Given the description of an element on the screen output the (x, y) to click on. 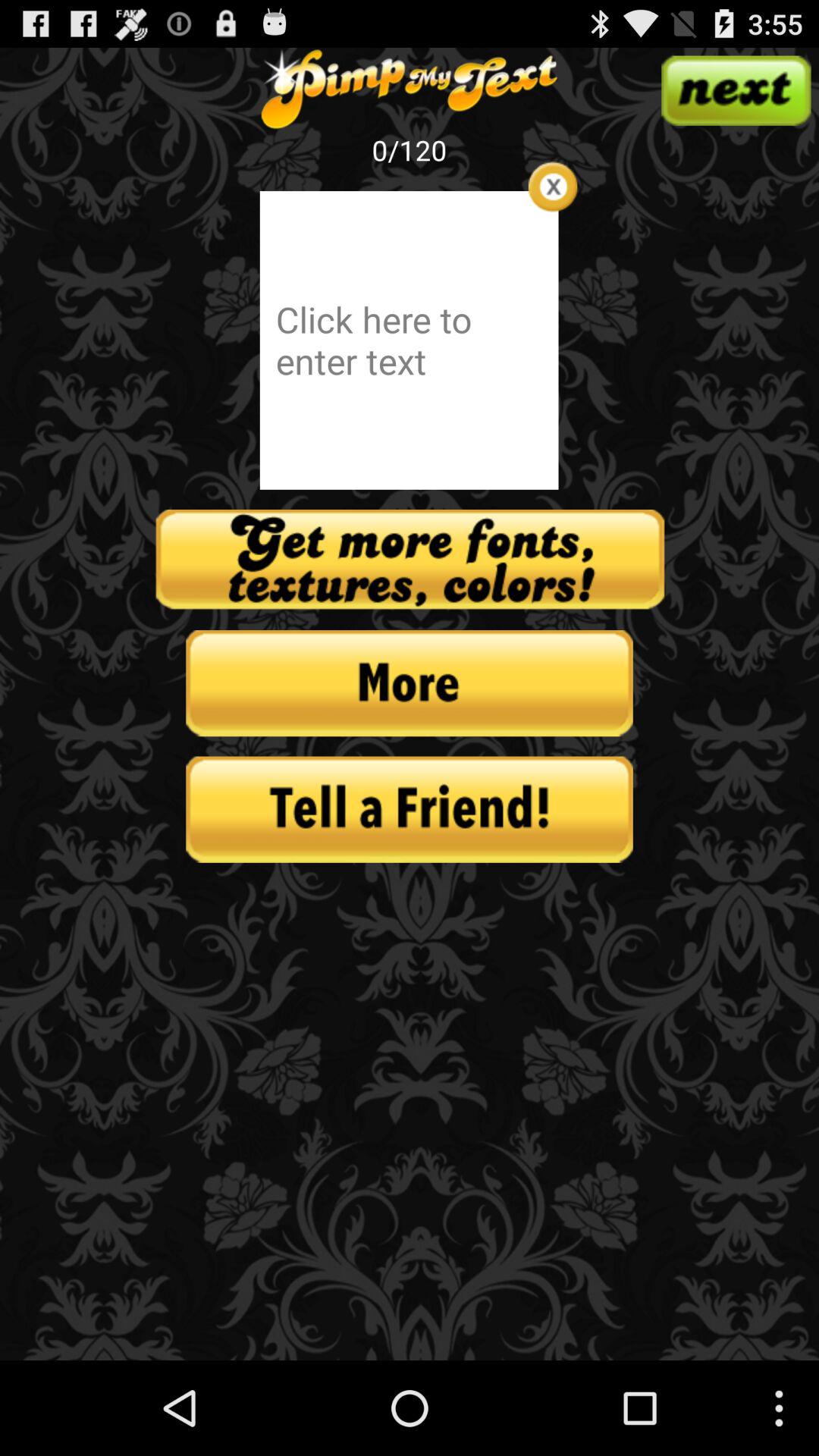
open text field (408, 340)
